Given the description of an element on the screen output the (x, y) to click on. 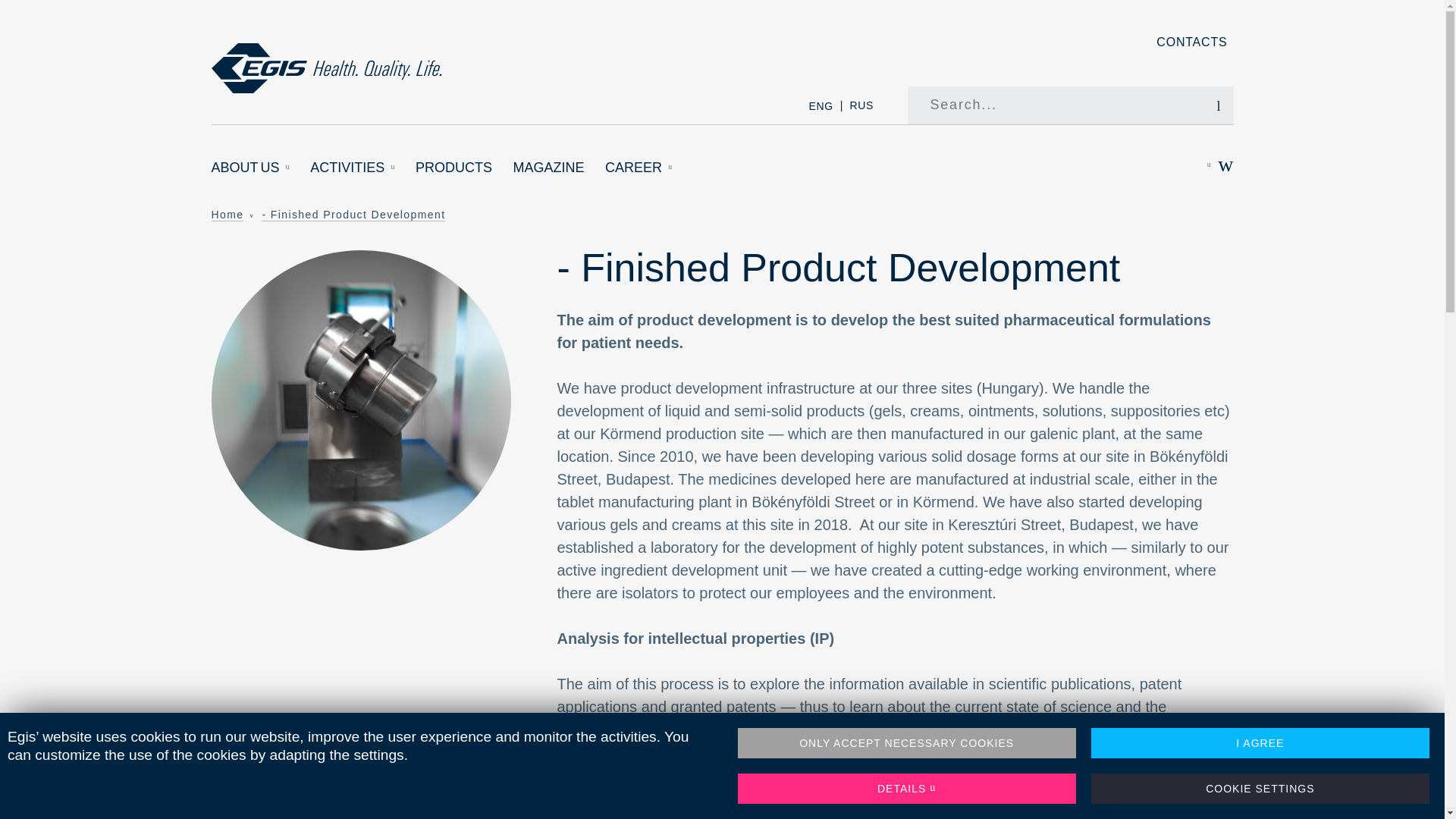
Home (326, 68)
RUS (860, 105)
MAGAZINE (548, 167)
ENG (820, 105)
ACTIVITIES (352, 167)
ABOUT US (250, 167)
CAREER (638, 167)
PRODUCTS (453, 167)
CONTACTS (1191, 42)
